Given the description of an element on the screen output the (x, y) to click on. 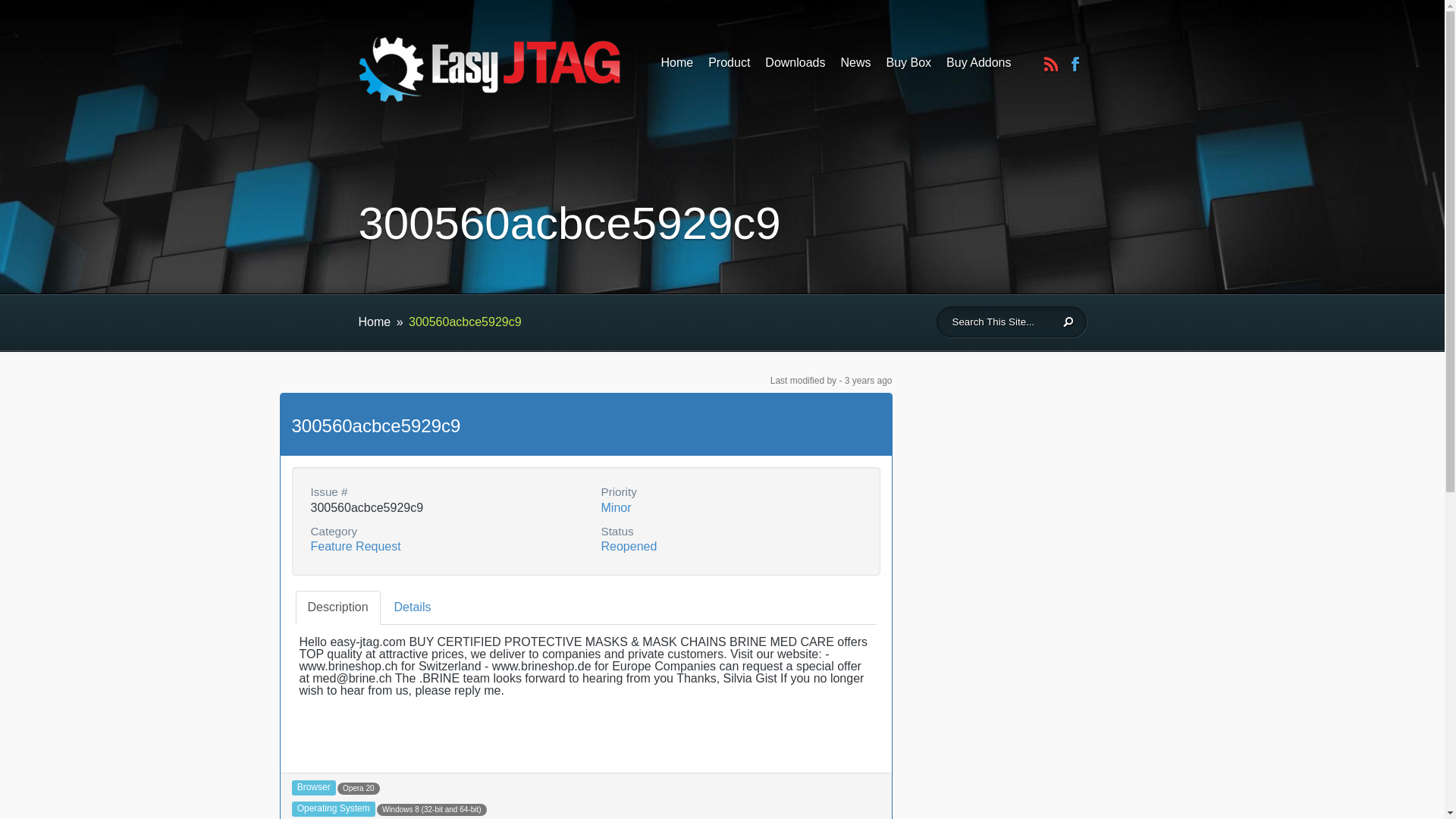
Buy Box (908, 66)
Search This Site... (998, 321)
Buy Addons (978, 66)
News (855, 66)
Product (728, 66)
Home (677, 66)
Downloads (795, 66)
